Given the description of an element on the screen output the (x, y) to click on. 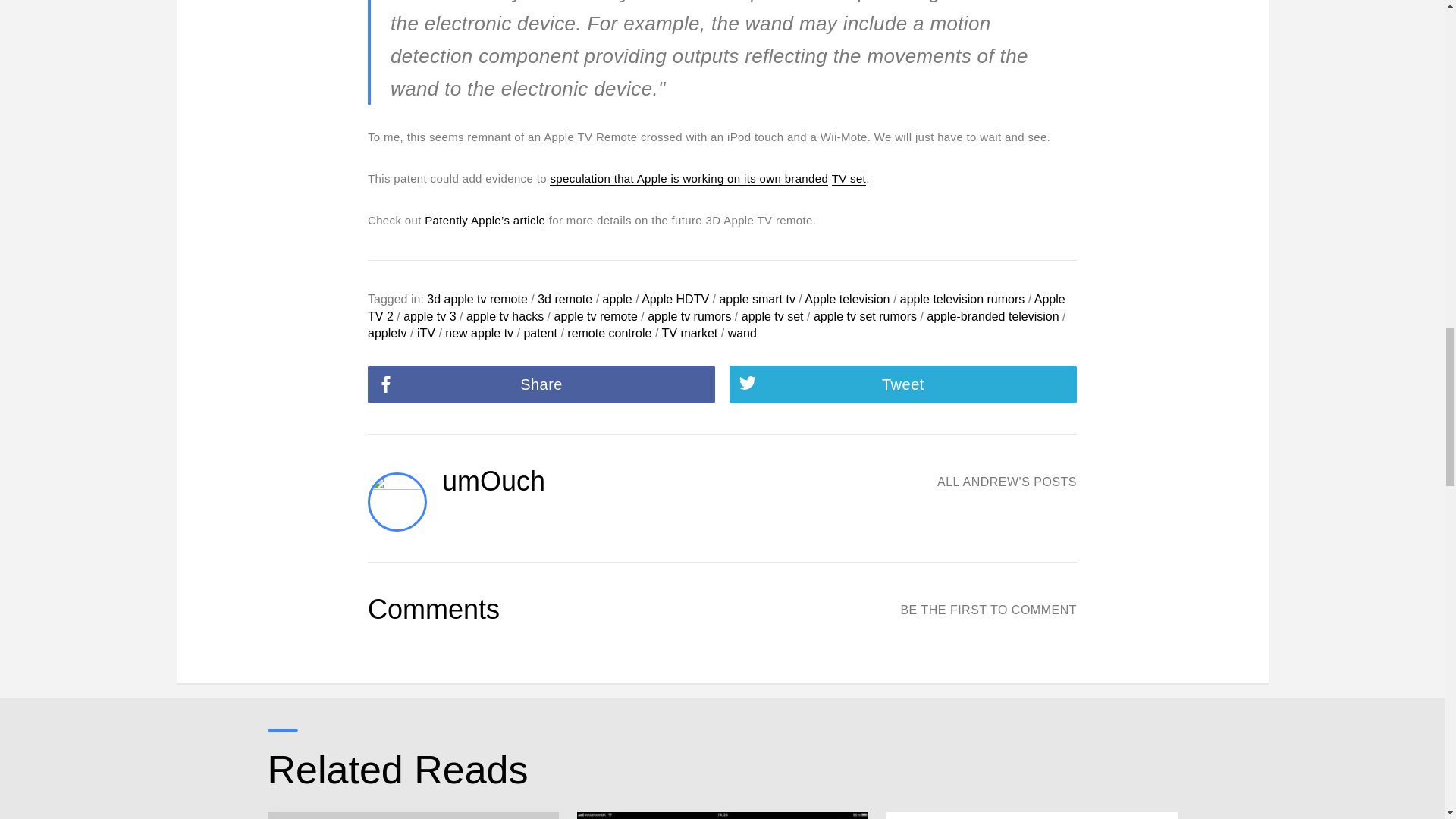
speculation that Apple is working on its own branded (689, 178)
3d apple tv remote (476, 298)
TV set (848, 178)
Posts by umOuch (493, 481)
3d remote (564, 298)
